Given the description of an element on the screen output the (x, y) to click on. 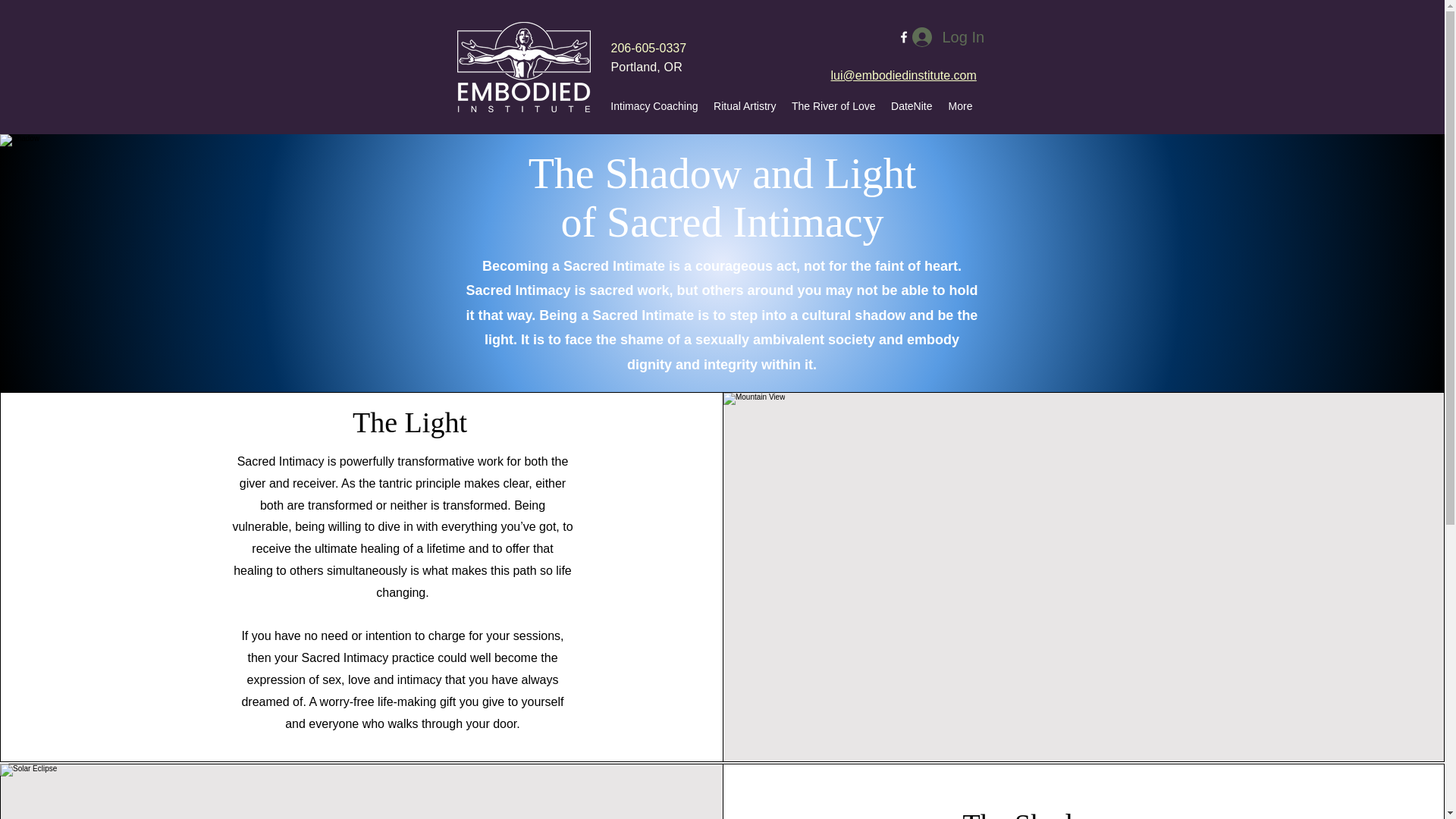
Ritual Artistry (743, 106)
Intimacy Coaching (651, 106)
DateNite (910, 106)
The River of Love (833, 106)
Log In (946, 37)
